Given the description of an element on the screen output the (x, y) to click on. 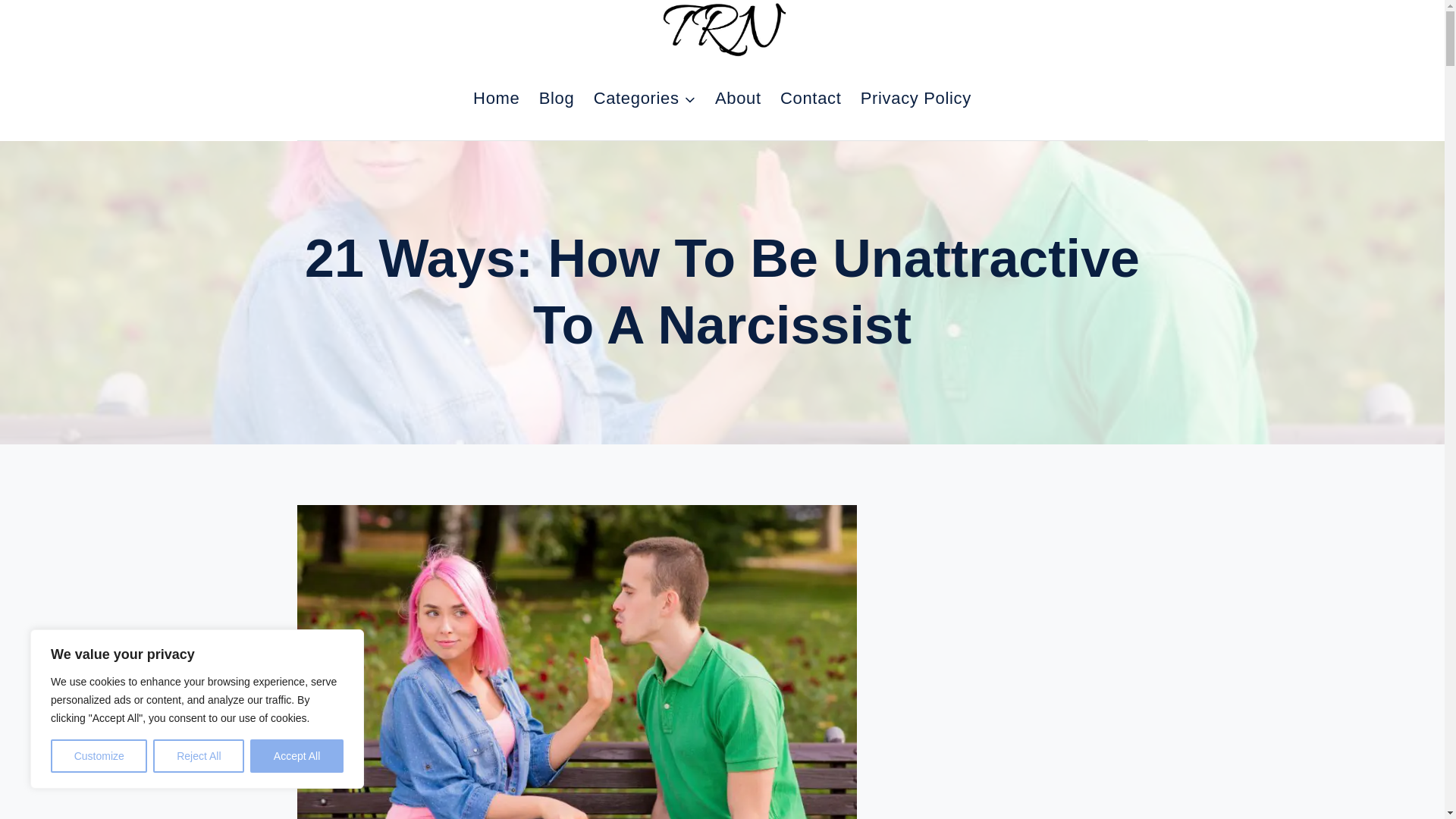
About (737, 98)
Categories (643, 98)
Reject All (198, 756)
Customize (98, 756)
Home (496, 98)
Privacy Policy (914, 98)
Blog (556, 98)
Contact (810, 98)
Accept All (296, 756)
